Given the description of an element on the screen output the (x, y) to click on. 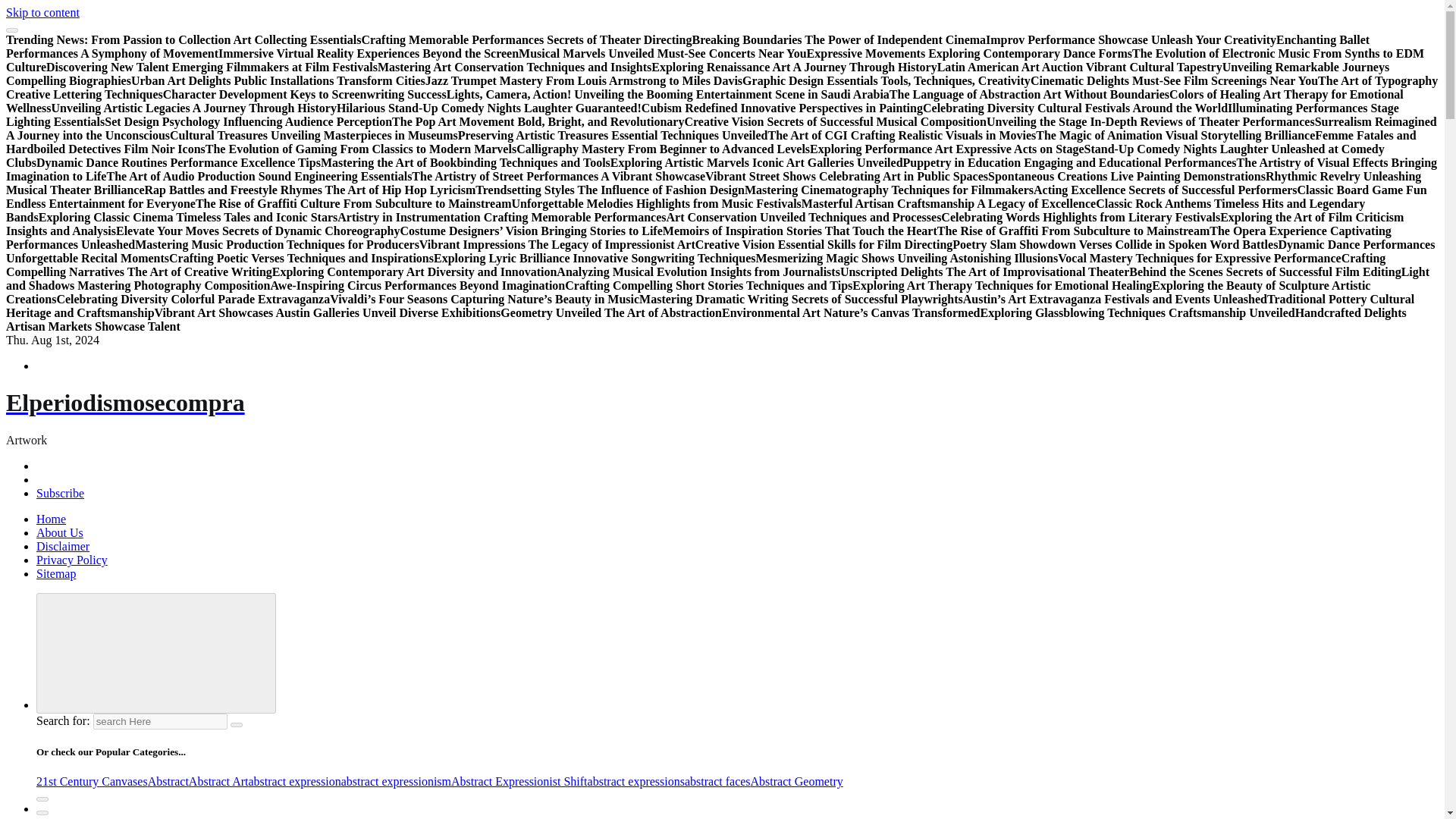
Abstract Art (218, 780)
Sitemap (55, 573)
abstract expressions (636, 780)
21st Century Canvases (92, 780)
abstract faces (717, 780)
Skip to content (42, 11)
Abstract (168, 780)
abstract expressionism (395, 780)
Subscribe (60, 492)
Disclaimer (62, 545)
Abstract Expressionist Shift (519, 780)
About Us (59, 532)
Home (50, 518)
abstract expression (294, 780)
Home (50, 518)
